Given the description of an element on the screen output the (x, y) to click on. 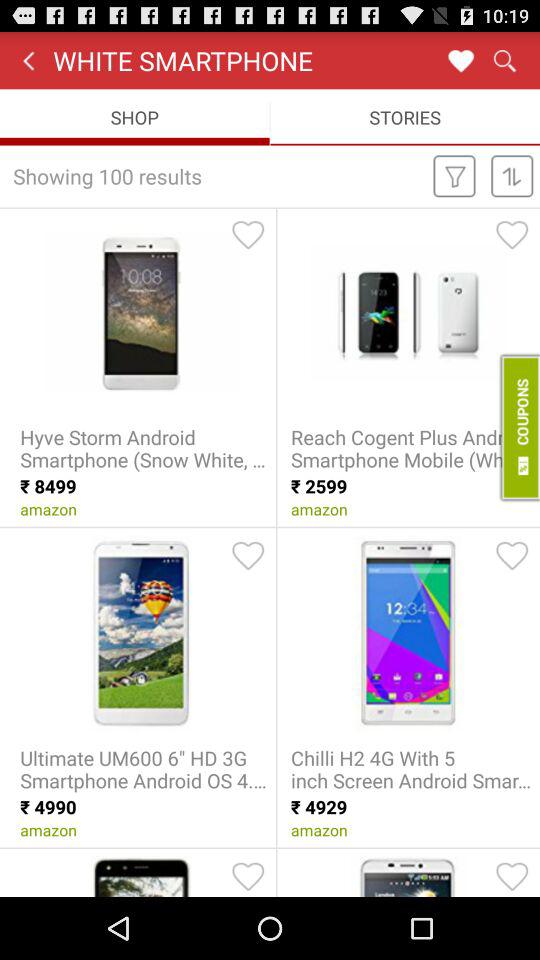
add to favorites (248, 555)
